Given the description of an element on the screen output the (x, y) to click on. 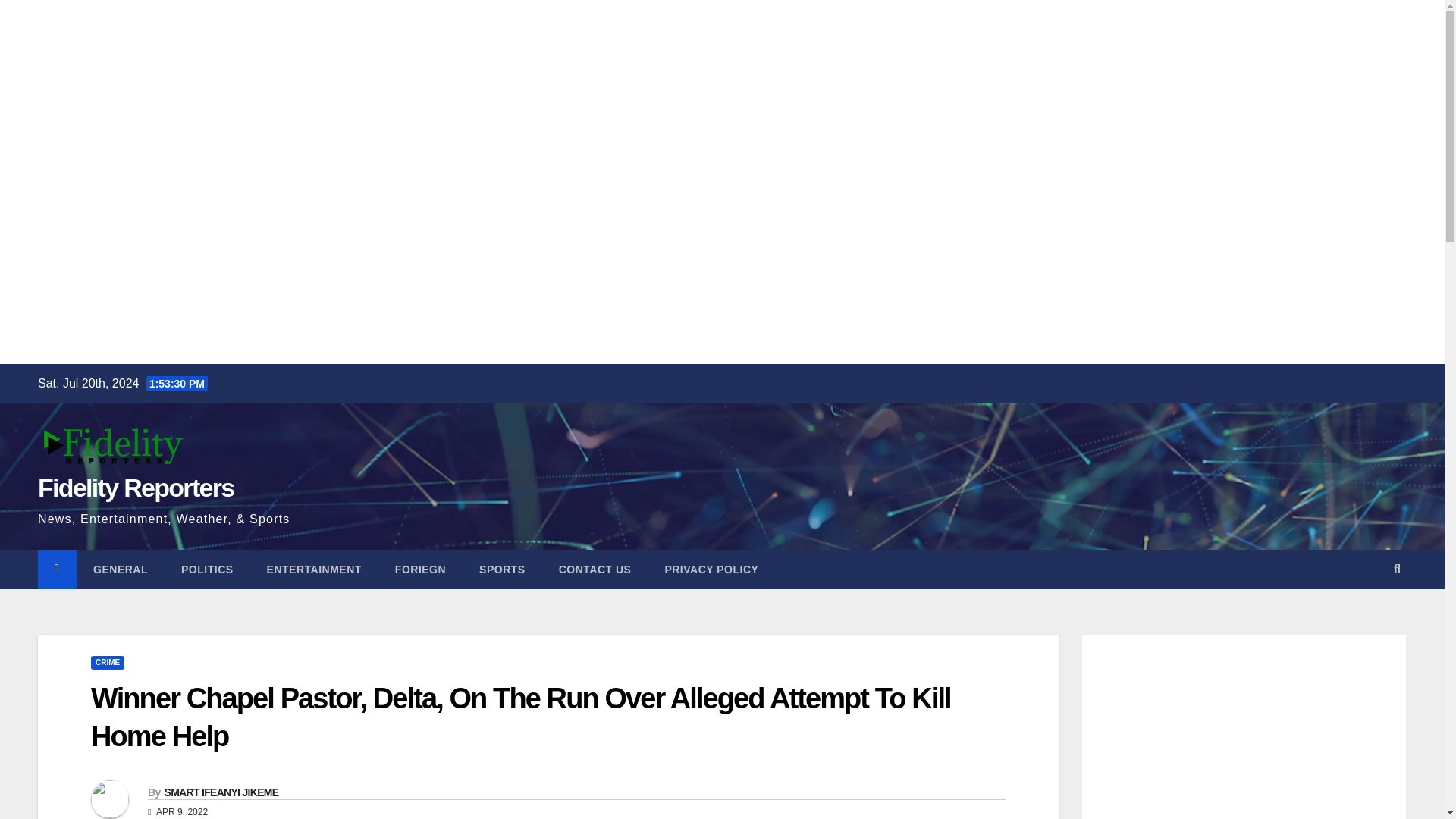
PRIVACY POLICY (710, 568)
Sports (502, 568)
Politics (207, 568)
ENTERTAINMENT (314, 568)
Foriegn (420, 568)
Privacy Policy (710, 568)
Entertainment (314, 568)
SMART IFEANYI JIKEME (220, 792)
POLITICS (207, 568)
FORIEGN (420, 568)
SPORTS (502, 568)
Fidelity Reporters (134, 487)
General (120, 568)
